Given the description of an element on the screen output the (x, y) to click on. 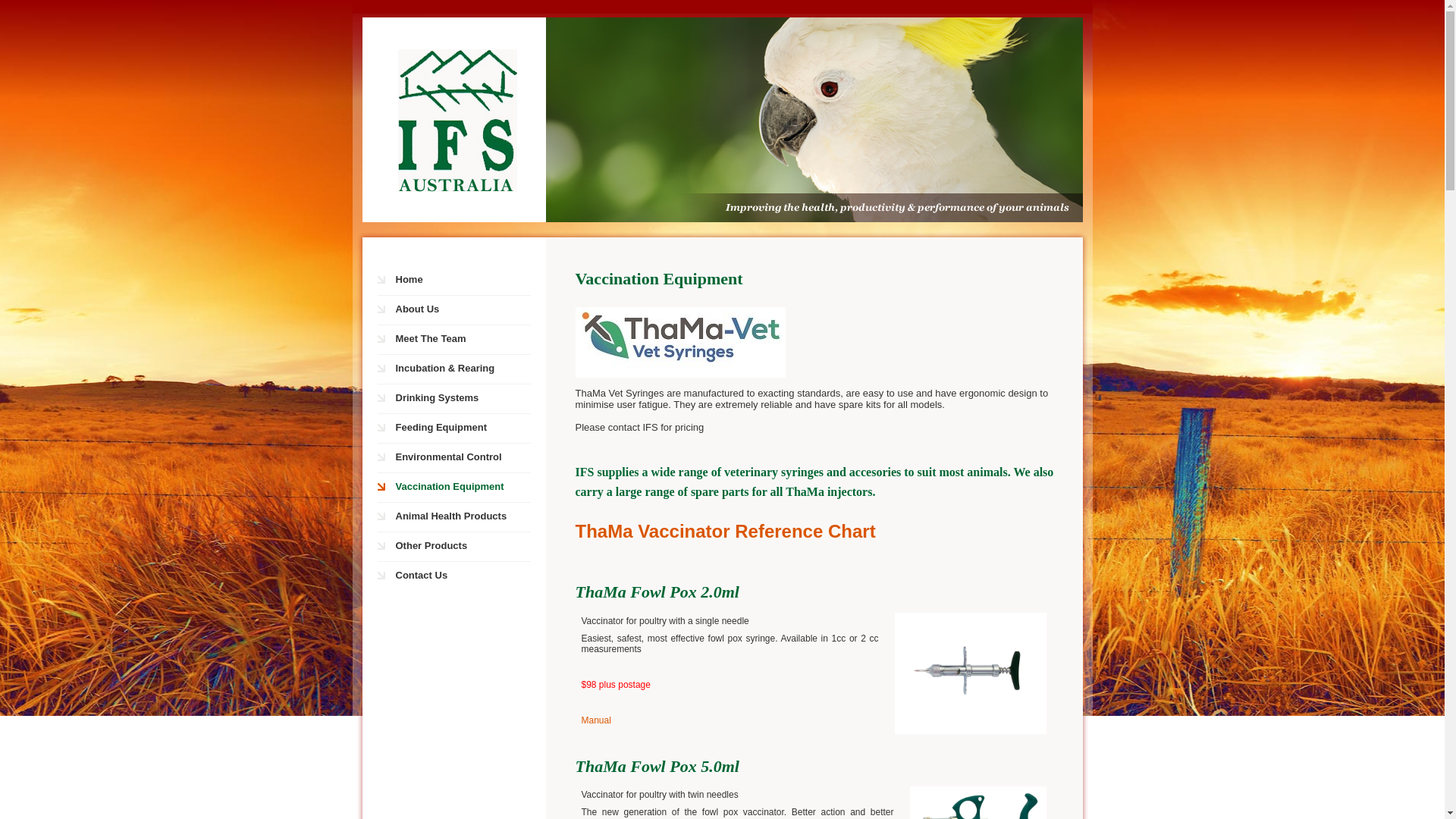
Meet The Team Element type: text (461, 339)
Incubation & Rearing Element type: text (461, 368)
ThaMa Vaccinator Reference Chart Element type: text (724, 530)
Contact Us Element type: text (461, 575)
Feeding Equipment Element type: text (461, 428)
Animal Health Products Element type: text (461, 516)
Vaccination Equipment Element type: text (461, 487)
Home Element type: text (461, 280)
Drinking Systems Element type: text (461, 398)
Other Products Element type: text (461, 546)
About Us Element type: text (461, 309)
Manual Element type: text (595, 720)
Environmental Control Element type: text (461, 457)
